Given the description of an element on the screen output the (x, y) to click on. 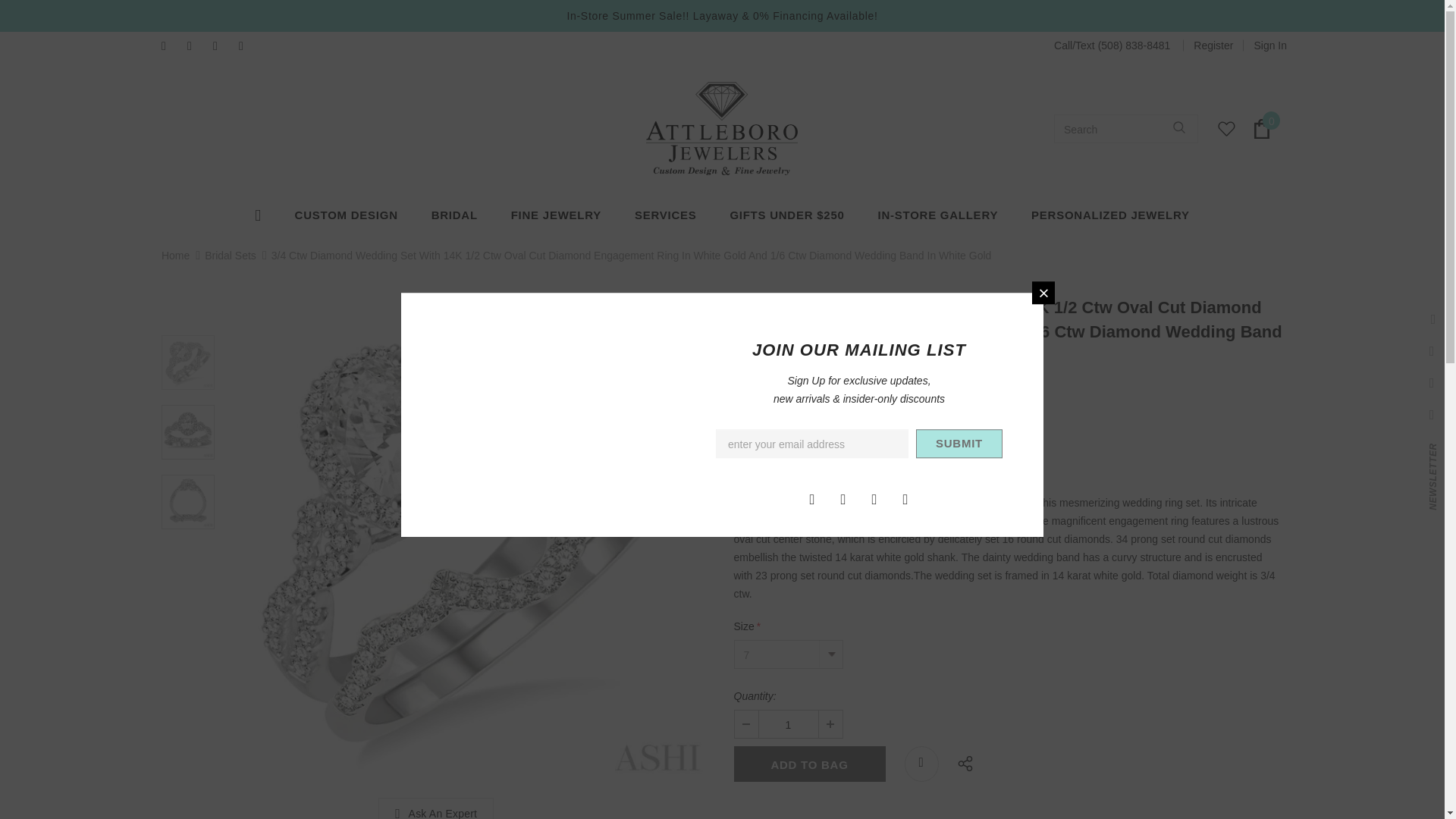
Sign In (1265, 45)
Submit (959, 443)
Register (1213, 45)
1 (787, 723)
Add to Bag (809, 764)
